Given the description of an element on the screen output the (x, y) to click on. 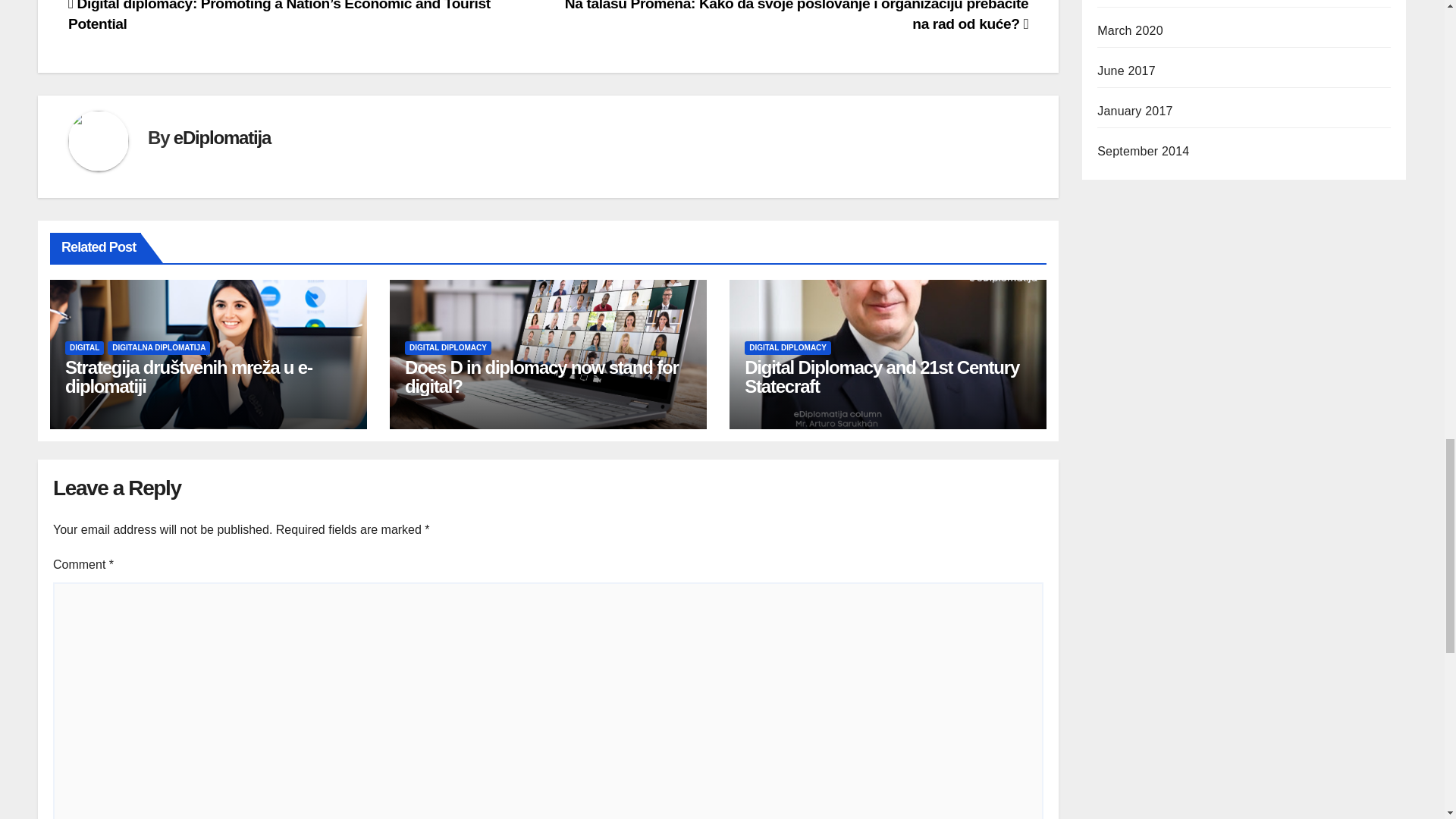
Permalink to: Digital Diplomacy and 21st Century Statecraft (881, 376)
DIGITAL (84, 347)
eDiplomatija (221, 137)
Permalink to: Does D in diplomacy now stand for digital? (541, 376)
DIGITALNA DIPLOMATIJA (158, 347)
